Given the description of an element on the screen output the (x, y) to click on. 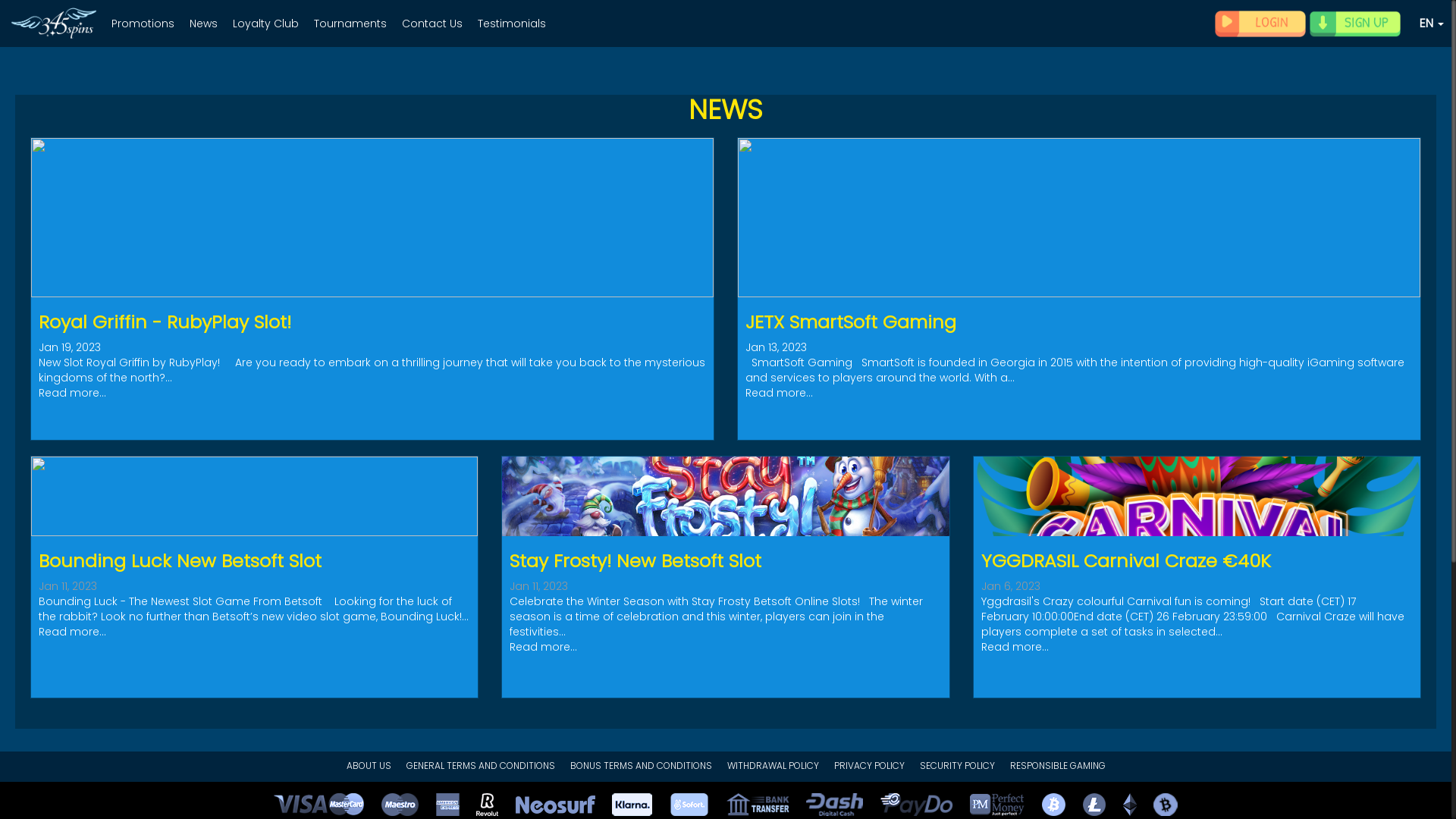
Read more... Element type: text (1014, 646)
Read more... Element type: text (778, 392)
Contact Us Element type: text (432, 20)
Testimonials Element type: text (511, 20)
ABOUT US Element type: text (367, 765)
Read more... Element type: text (543, 646)
SECURITY POLICY Element type: text (956, 765)
GENERAL TERMS AND CONDITIONS Element type: text (480, 765)
Loyalty Club Element type: text (265, 20)
BONUS TERMS AND CONDITIONS Element type: text (641, 765)
/site/login-form Element type: text (1259, 23)
EN Element type: text (1431, 22)
Read more... Element type: text (72, 392)
News Element type: text (203, 20)
PRIVACY POLICY Element type: text (869, 765)
WITHDRAWAL POLICY Element type: text (772, 765)
RESPONSIBLE GAMING Element type: text (1057, 765)
Promotions Element type: text (142, 20)
Tournaments Element type: text (350, 20)
Read more... Element type: text (72, 631)
